Given the description of an element on the screen output the (x, y) to click on. 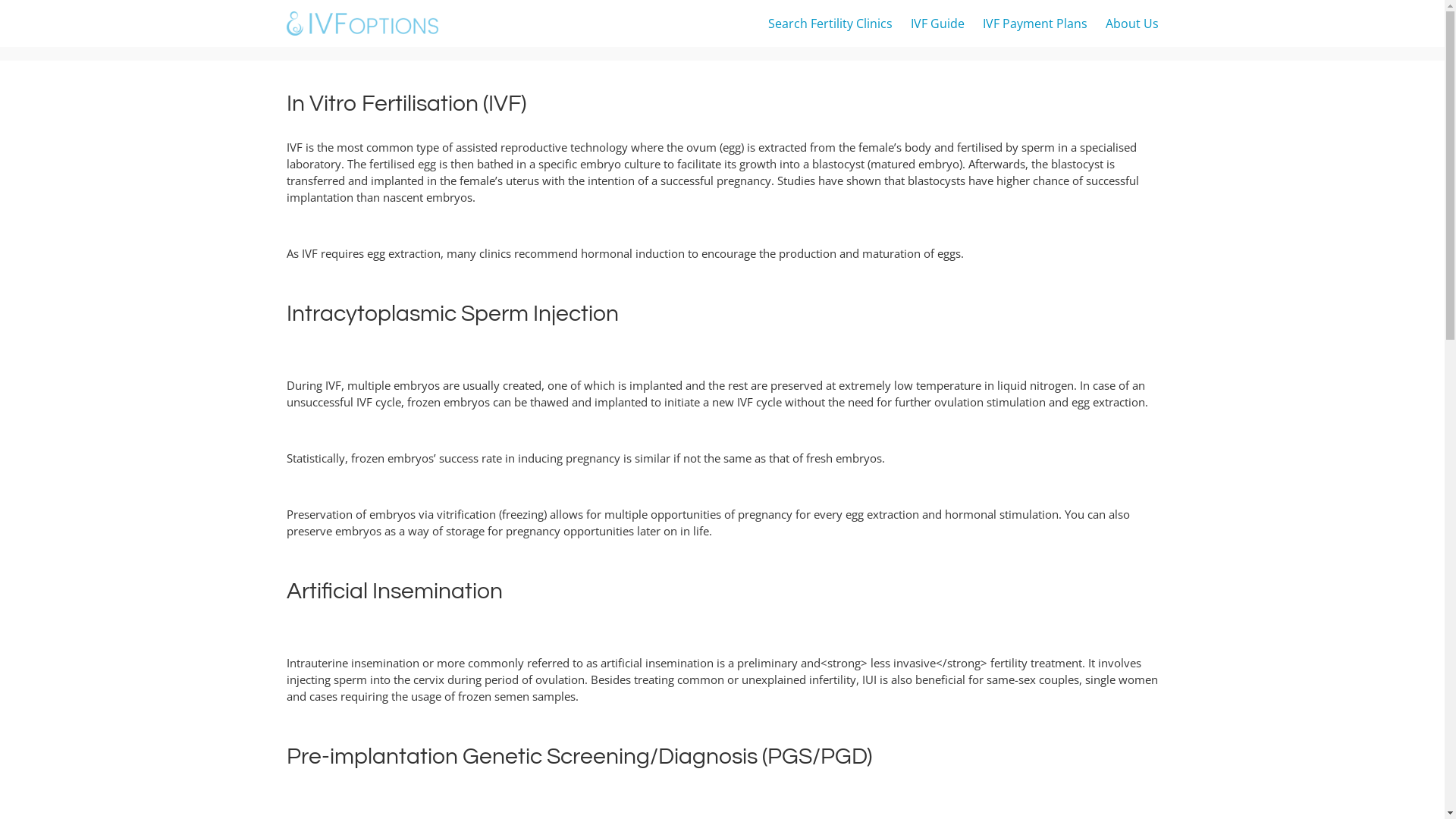
IVF Guide Element type: text (936, 23)
Search Fertility Clinics Element type: text (829, 23)
About Us Element type: text (1131, 23)
IVF Payment Plans Element type: text (1034, 23)
